Given the description of an element on the screen output the (x, y) to click on. 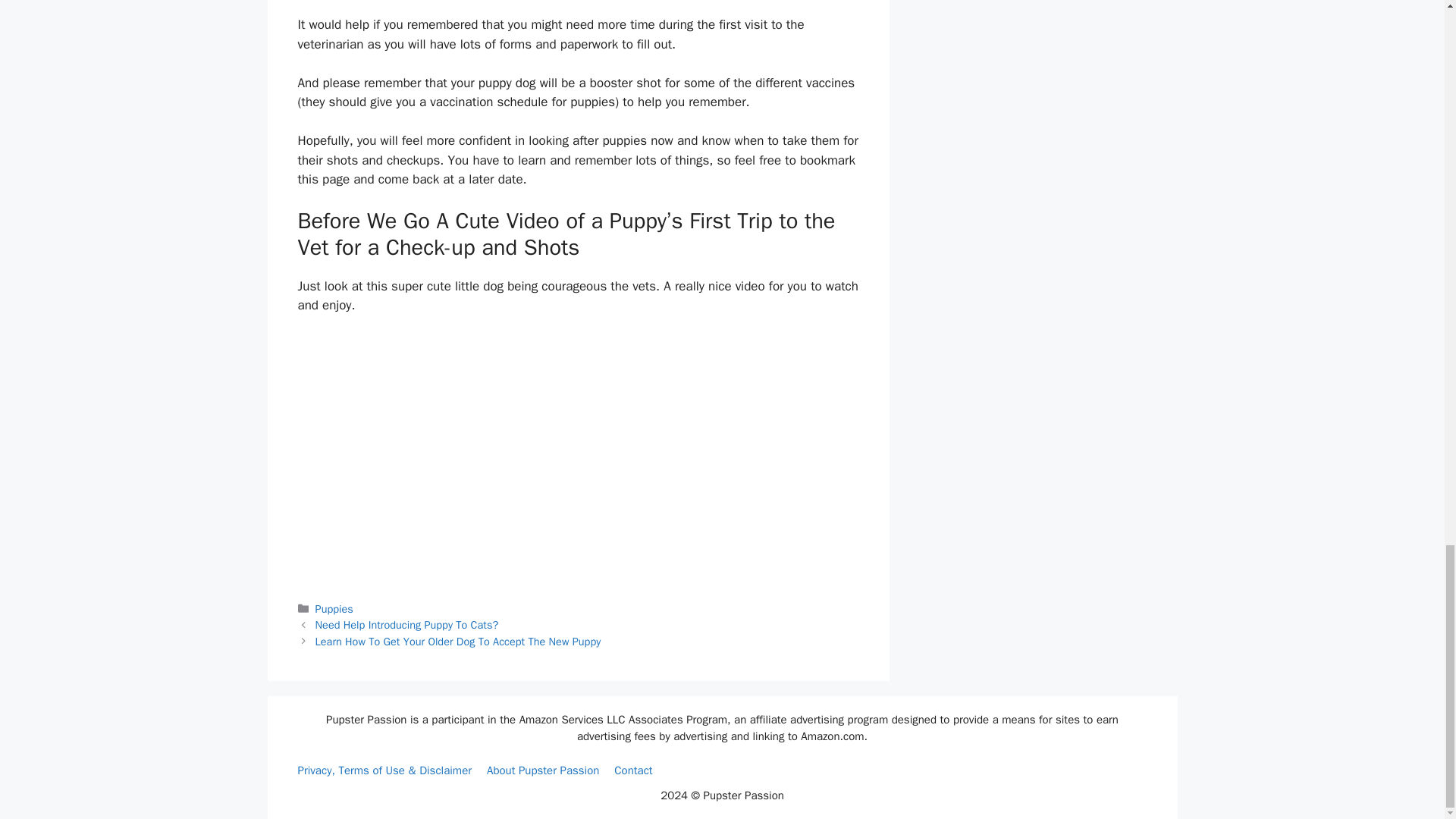
Puppies (334, 608)
Learn How To Get Your Older Dog To Accept The New Puppy (458, 641)
Contact (633, 770)
About Pupster Passion (542, 770)
Need Help Introducing Puppy To Cats? (407, 624)
